Given the description of an element on the screen output the (x, y) to click on. 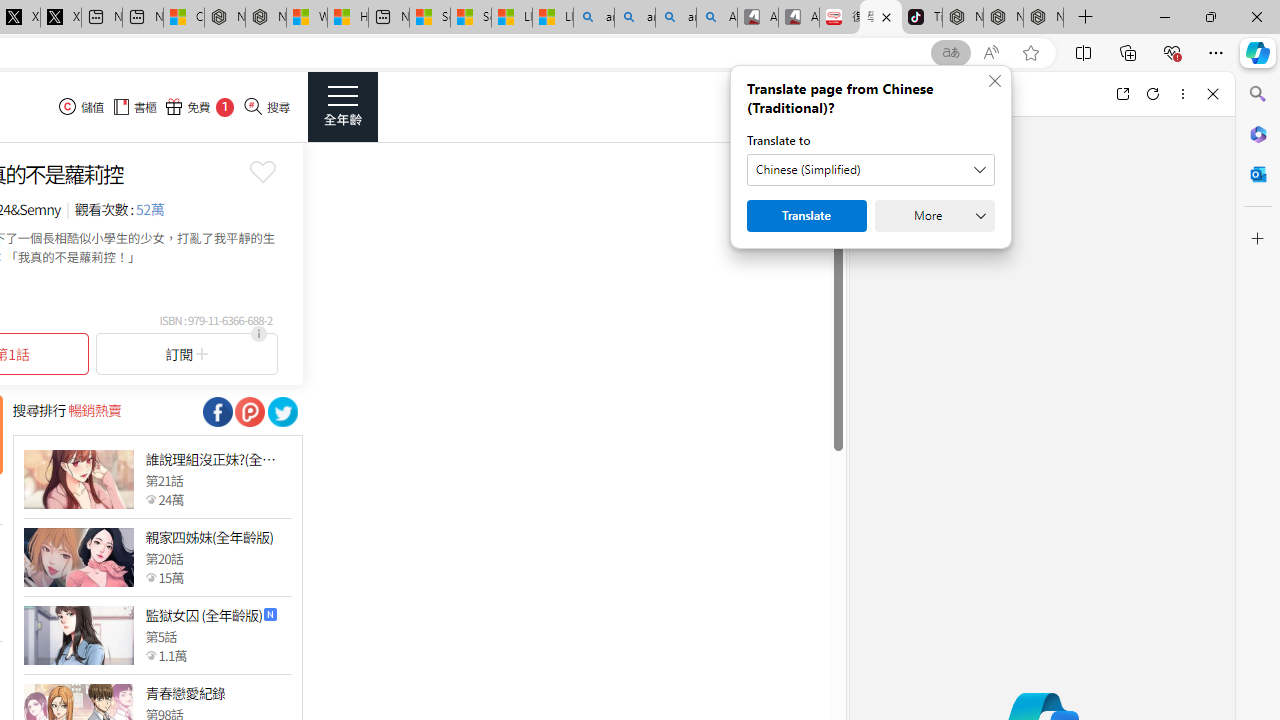
Translate (806, 215)
Show translate options (950, 53)
Translate to (870, 169)
Class: socialShare (282, 411)
Nordace - Siena Pro 15 Essential Set (1043, 17)
